Given the description of an element on the screen output the (x, y) to click on. 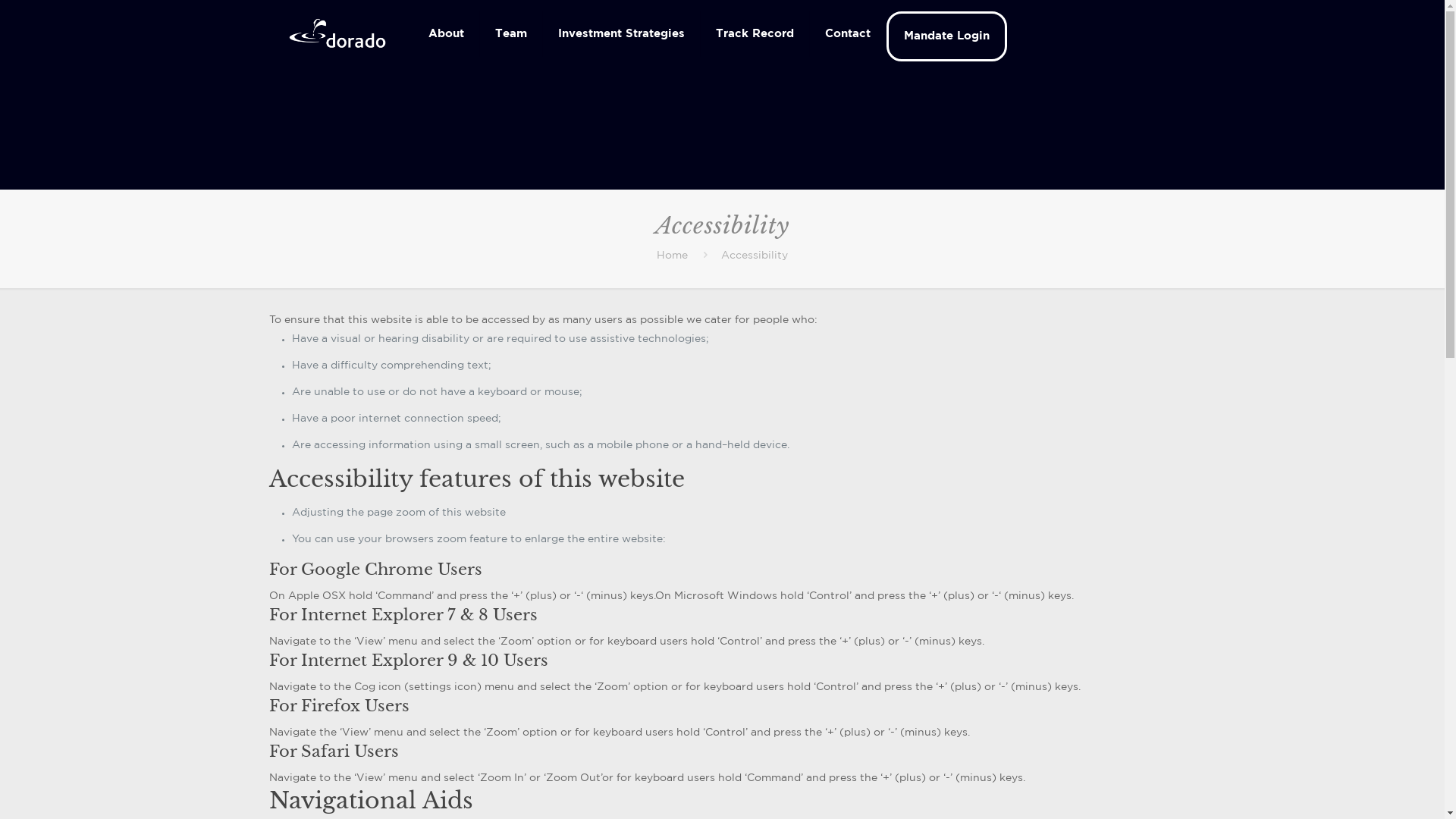
Team Element type: text (511, 34)
Dorado Property Element type: hover (337, 34)
Contact Element type: text (847, 34)
Home Element type: text (671, 255)
Track Record Element type: text (754, 34)
About Element type: text (446, 34)
Investment Strategies Element type: text (621, 34)
Mandate Login Element type: text (946, 36)
